Given the description of an element on the screen output the (x, y) to click on. 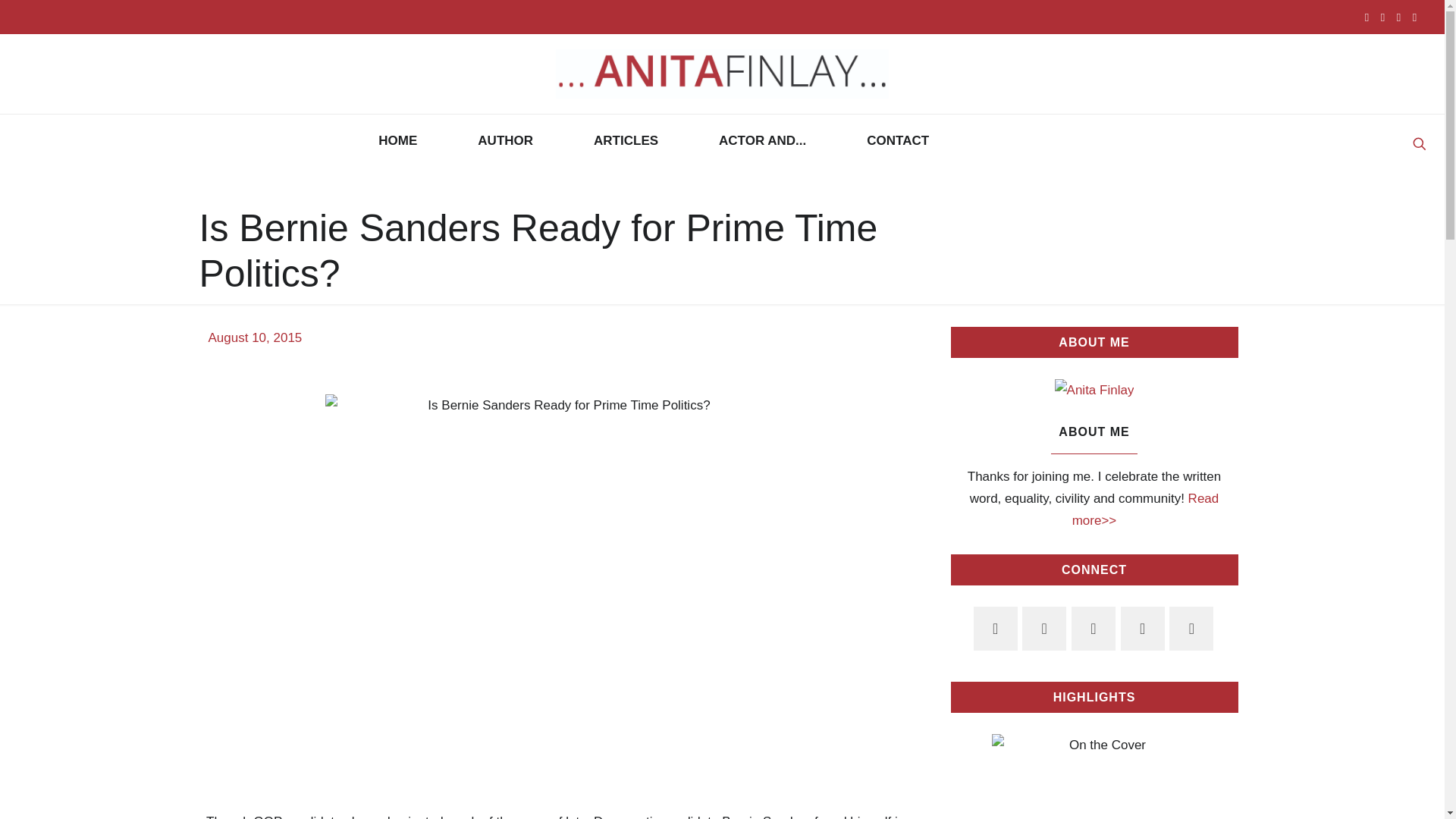
AUTHOR (505, 140)
CONTACT (898, 140)
ACTOR AND... (761, 140)
Anita Finlay (722, 73)
HOME (397, 140)
ARTICLES (625, 140)
